Given the description of an element on the screen output the (x, y) to click on. 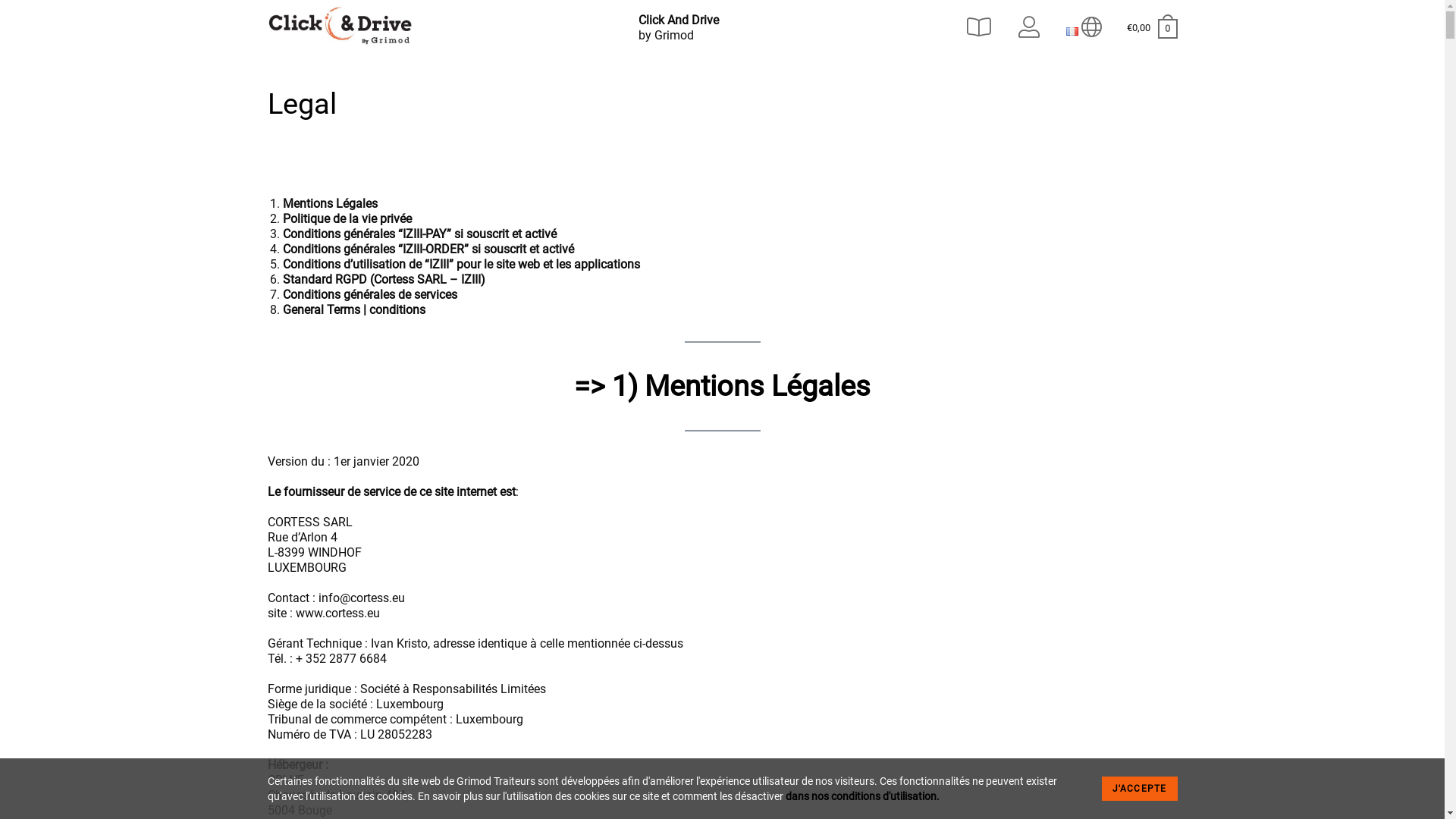
J'ACCEPTE Element type: text (1139, 788)
dans nos conditions d'utilisation. Element type: text (862, 796)
Mon compte Element type: hover (1031, 28)
